Given the description of an element on the screen output the (x, y) to click on. 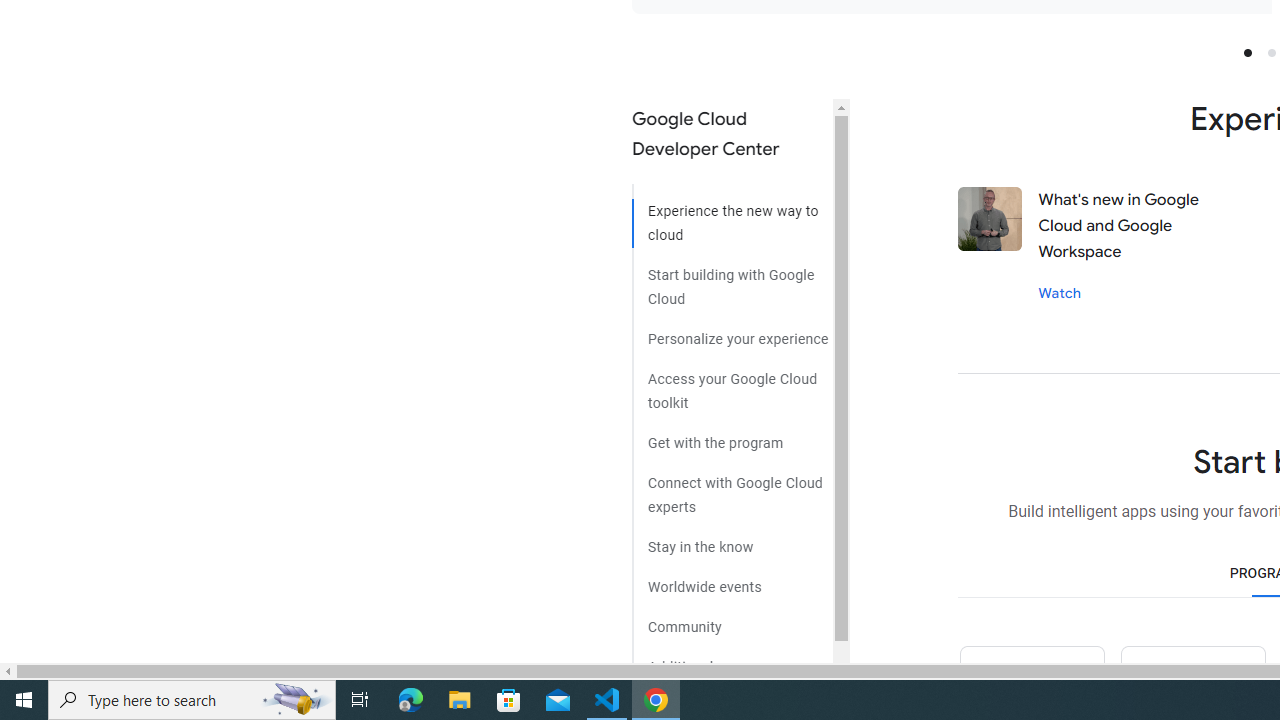
Personalize your experience (732, 331)
